Given the description of an element on the screen output the (x, y) to click on. 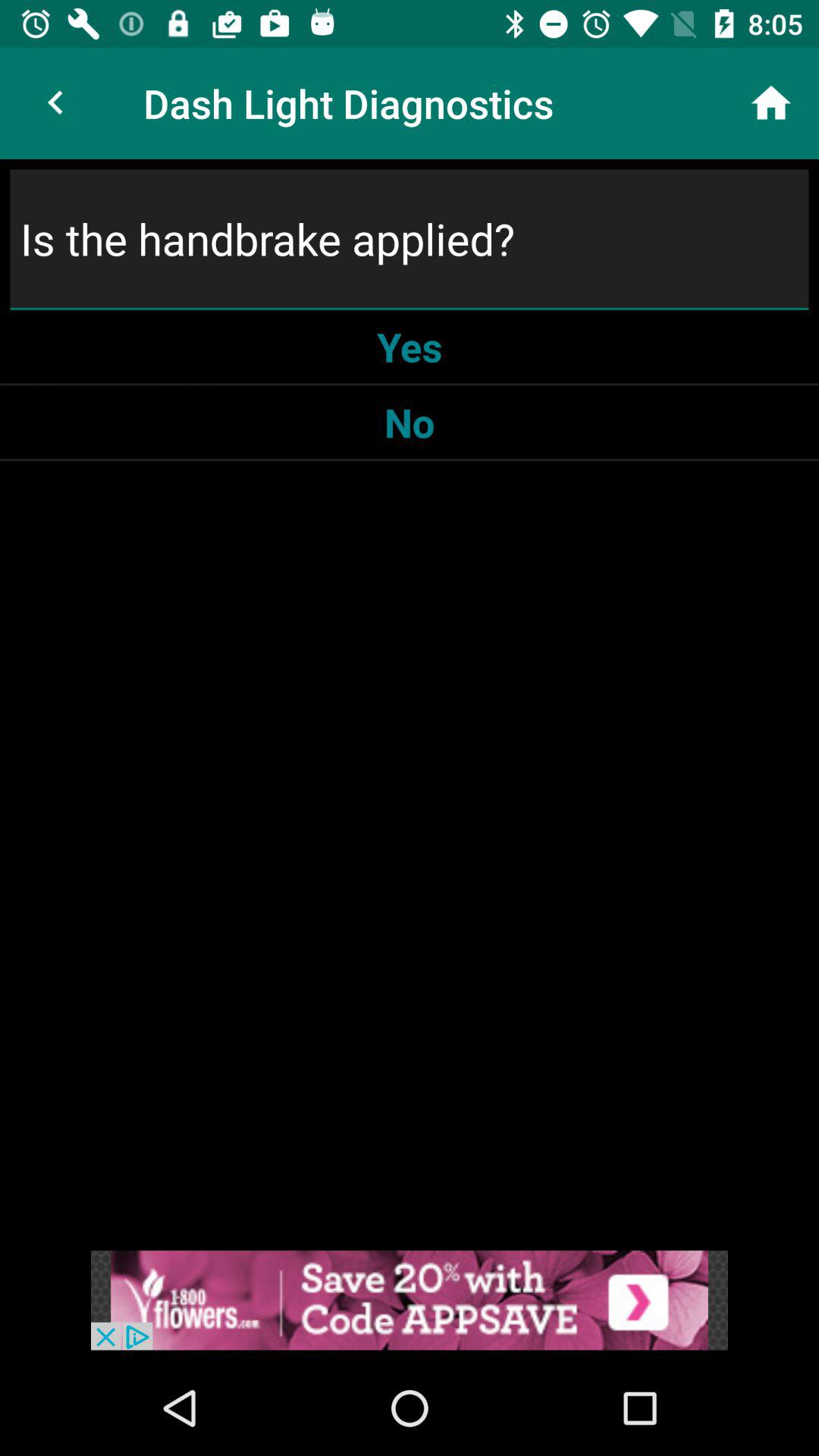
clicks the advertisement (409, 1300)
